Given the description of an element on the screen output the (x, y) to click on. 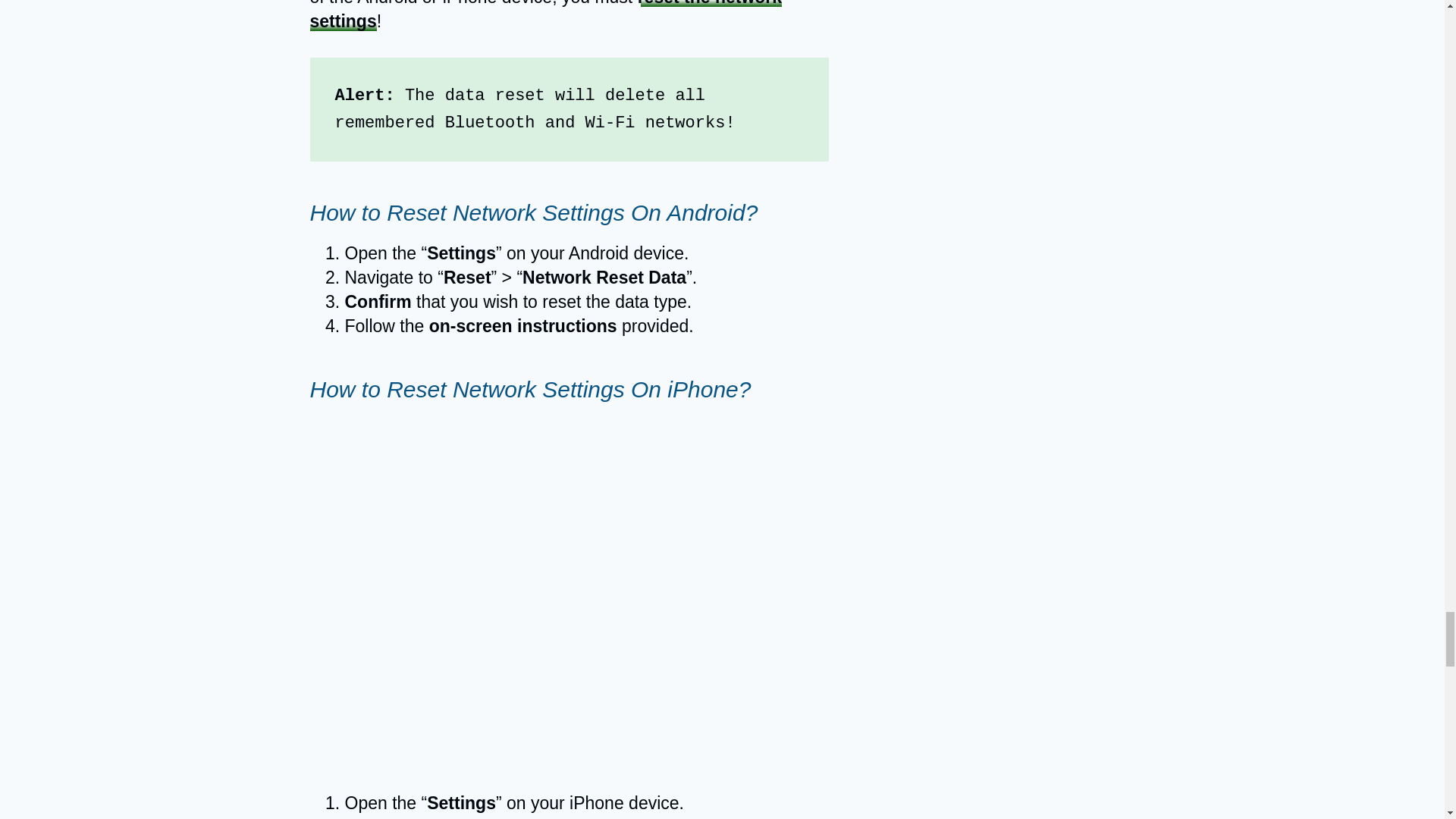
reset the network settings (544, 15)
